Given the description of an element on the screen output the (x, y) to click on. 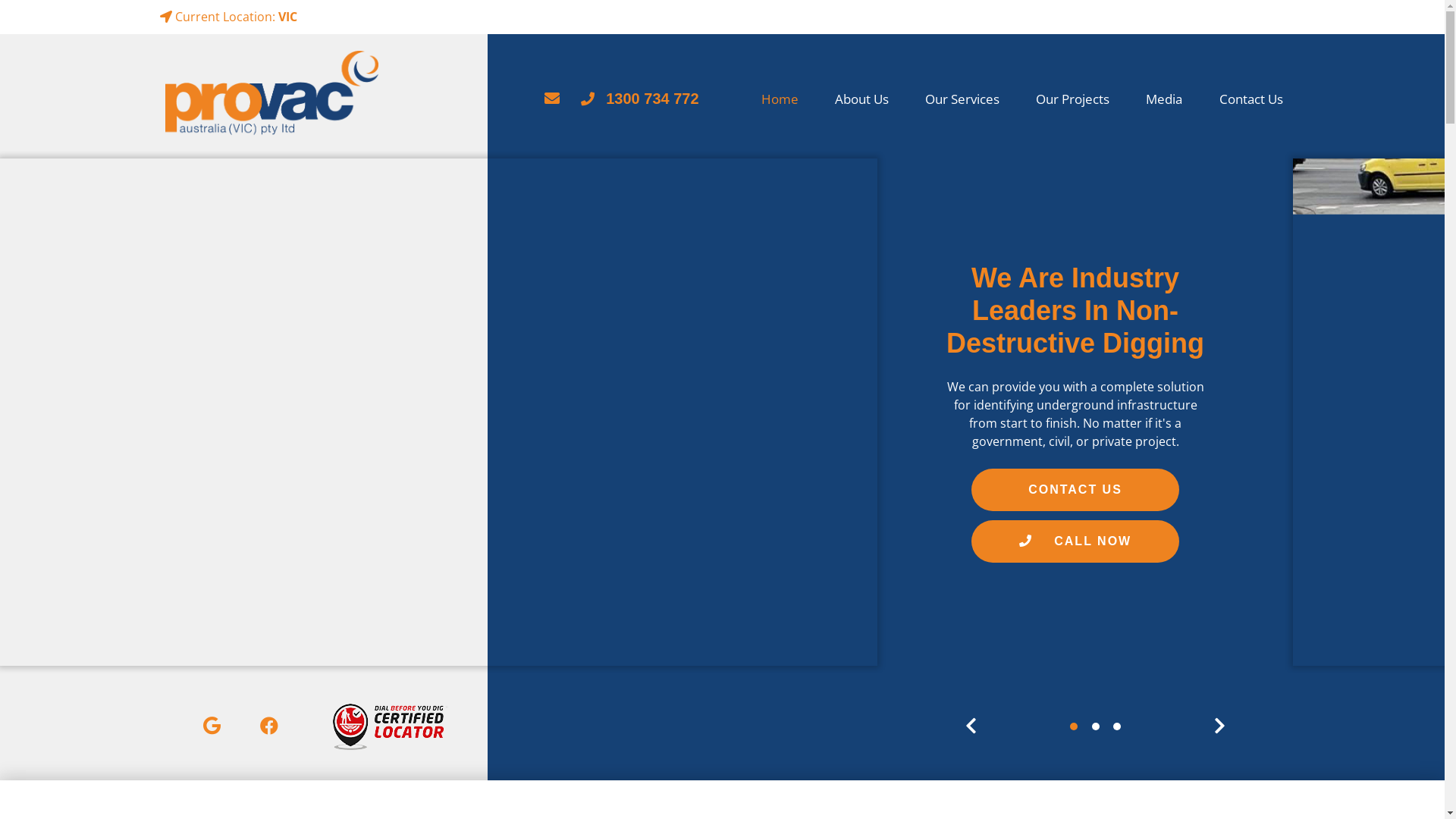
Our Services Element type: text (961, 99)
Home Element type: text (779, 99)
CONTACT US Element type: text (1075, 489)
1300 734 772 Element type: text (639, 98)
CALL NOW Element type: text (1075, 541)
Media Element type: text (1163, 99)
Contact Us Element type: text (1242, 99)
About Us Element type: text (861, 99)
Our Projects Element type: text (1072, 99)
